Given the description of an element on the screen output the (x, y) to click on. 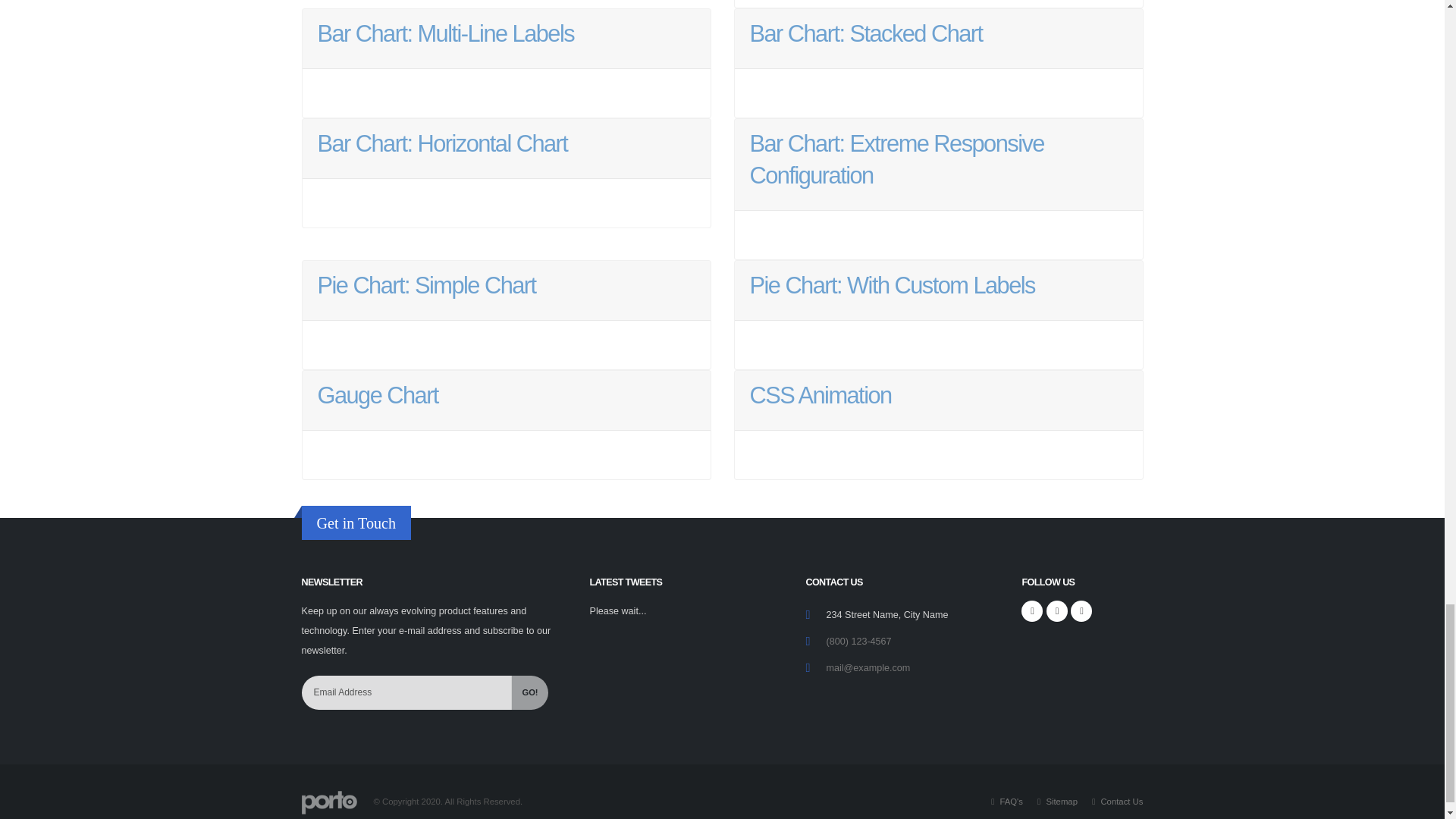
Linkedin (1081, 610)
Twitter (1056, 610)
Facebook (1032, 610)
